Given the description of an element on the screen output the (x, y) to click on. 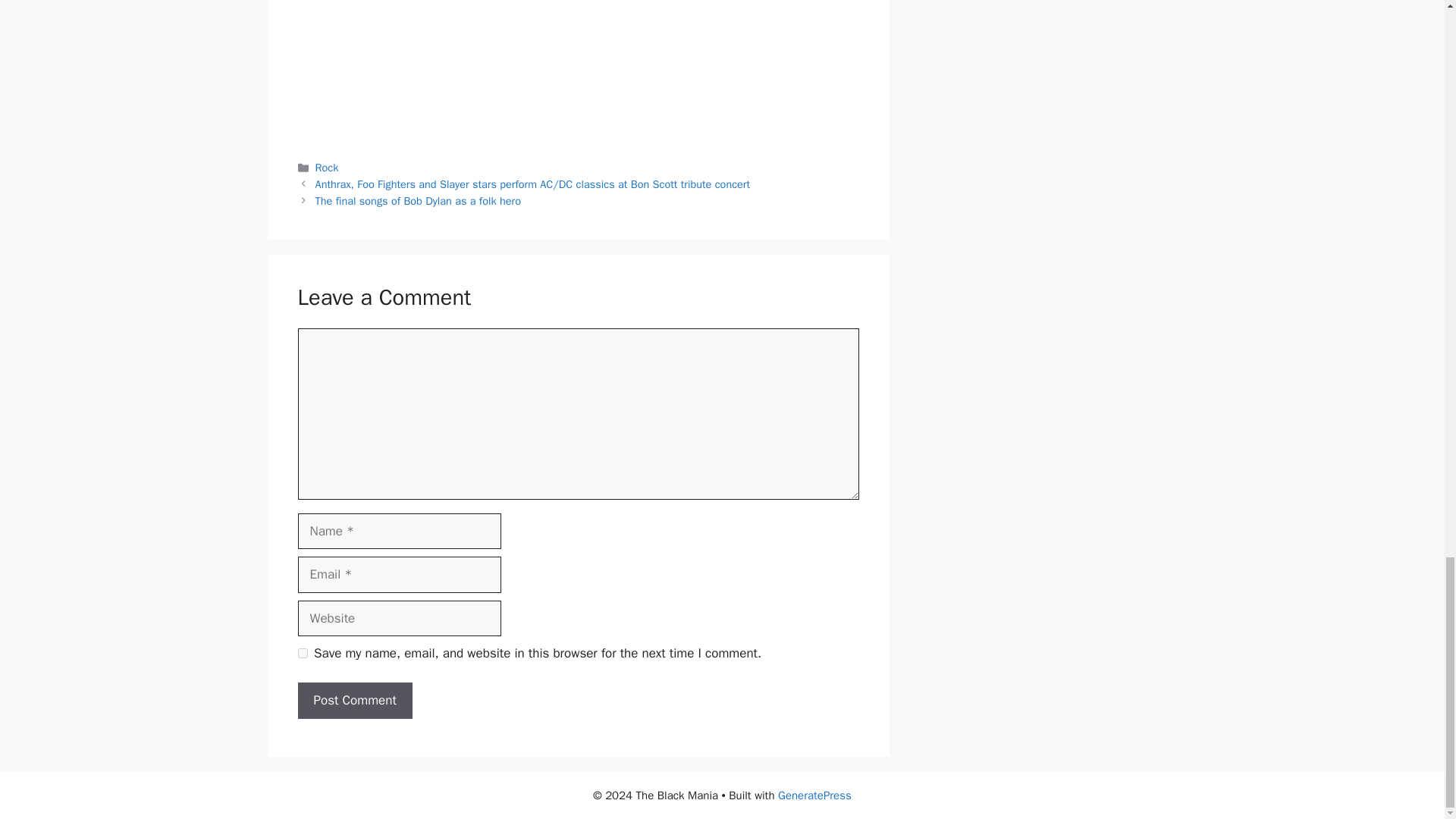
yes (302, 653)
Rock (327, 167)
Post Comment (354, 700)
Post Comment (354, 700)
GeneratePress (814, 795)
The Beatles - A Day In The Life (578, 66)
The final songs of Bob Dylan as a folk hero (418, 201)
